Given the description of an element on the screen output the (x, y) to click on. 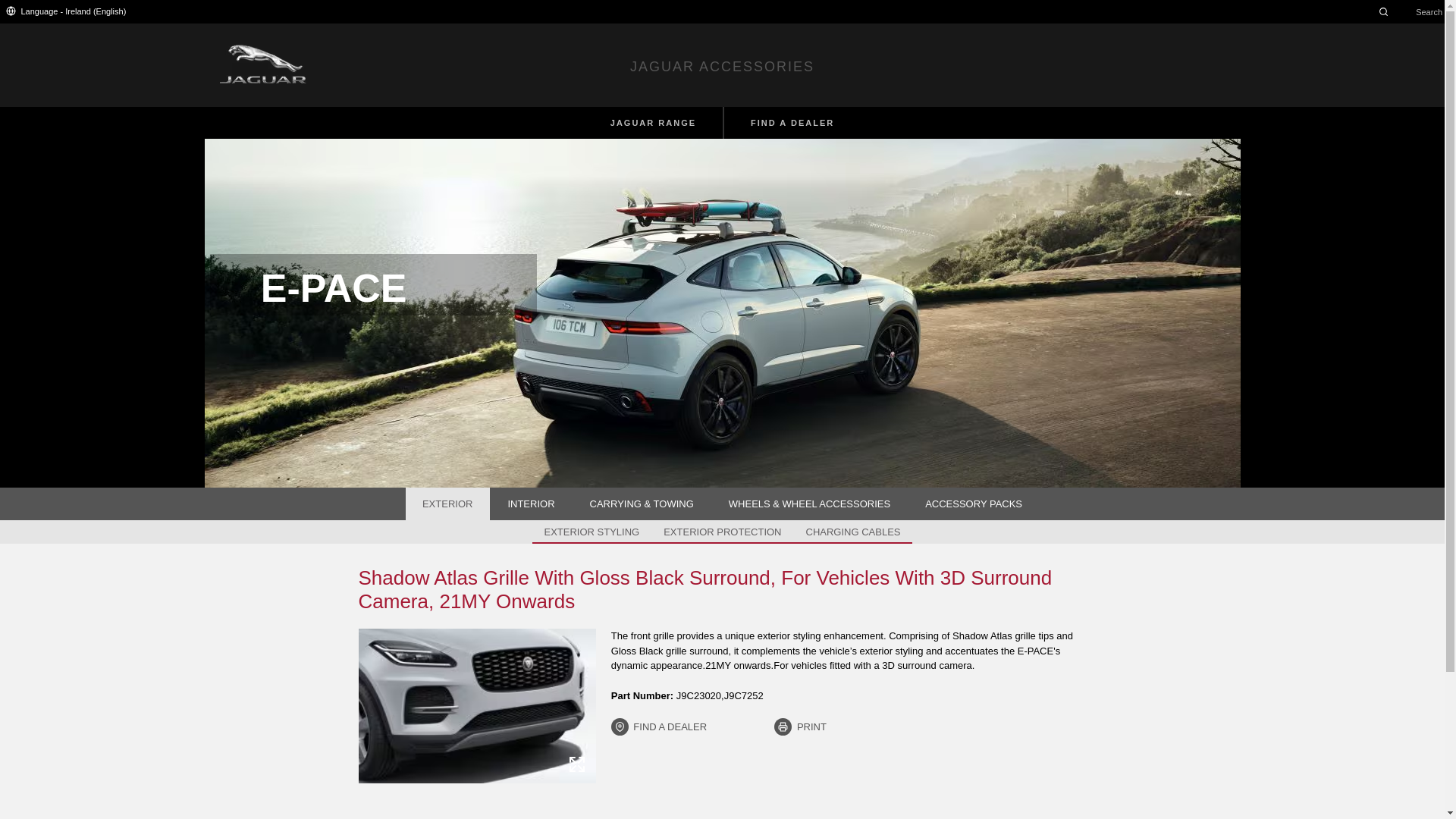
JAGUAR RANGE (652, 122)
FIND A DEALER (791, 122)
